Given the description of an element on the screen output the (x, y) to click on. 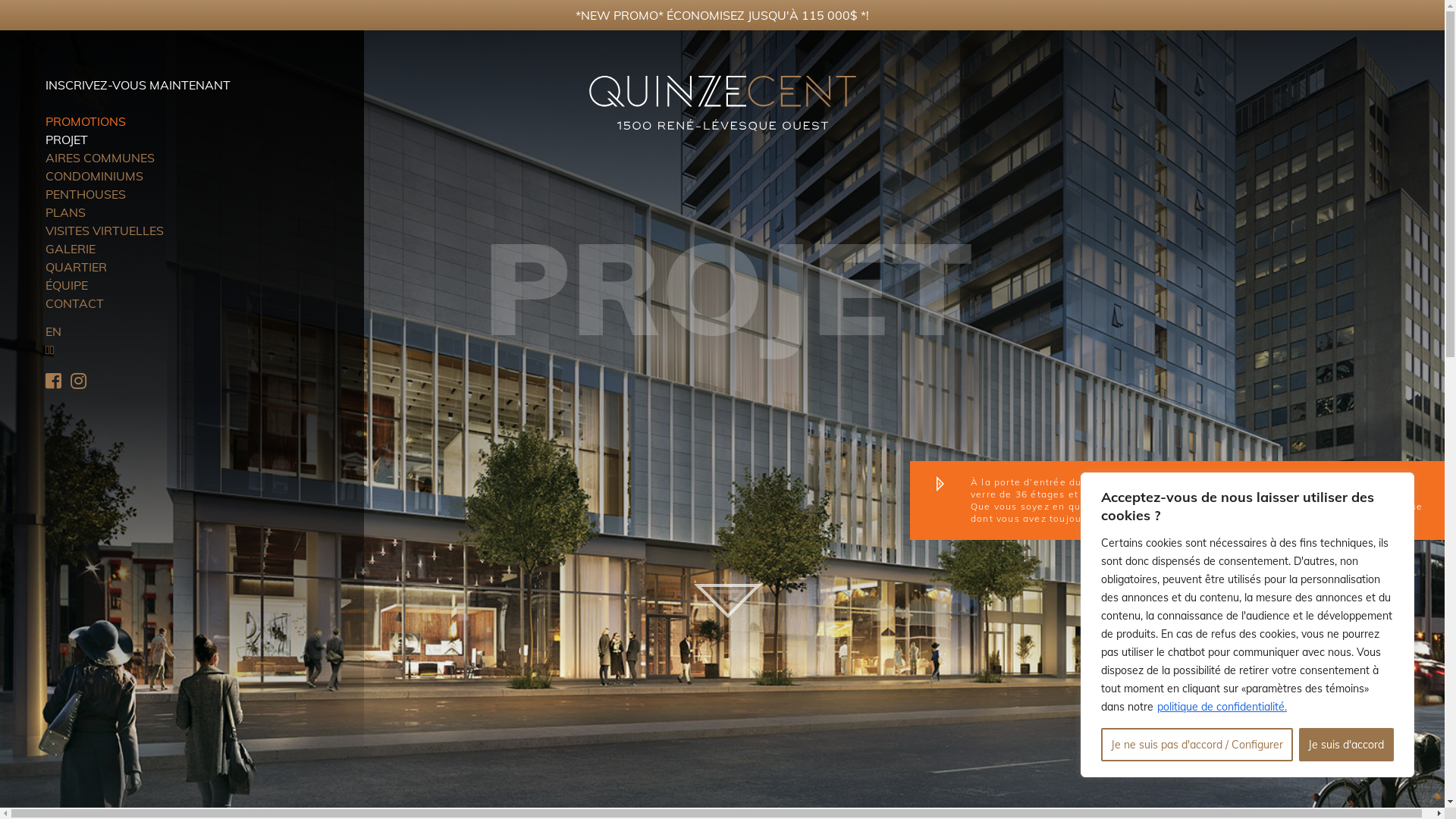
condominium Element type: text (1317, 505)
PROJET Element type: text (66, 139)
CONTACT Element type: text (74, 303)
penthouse Element type: text (1395, 505)
CONDOMINIUMS Element type: text (94, 175)
EN Element type: text (53, 331)
VISITES VIRTUELLES Element type: text (104, 230)
PROMOTIONS Element type: text (85, 121)
PENTHOUSES Element type: text (85, 194)
QUARTIER Element type: text (75, 266)
AIRES COMMUNES Element type: text (99, 157)
GALERIE Element type: text (70, 248)
PLANS Element type: text (65, 212)
INSCRIVEZ-VOUS MAINTENANT Element type: text (137, 84)
